Given the description of an element on the screen output the (x, y) to click on. 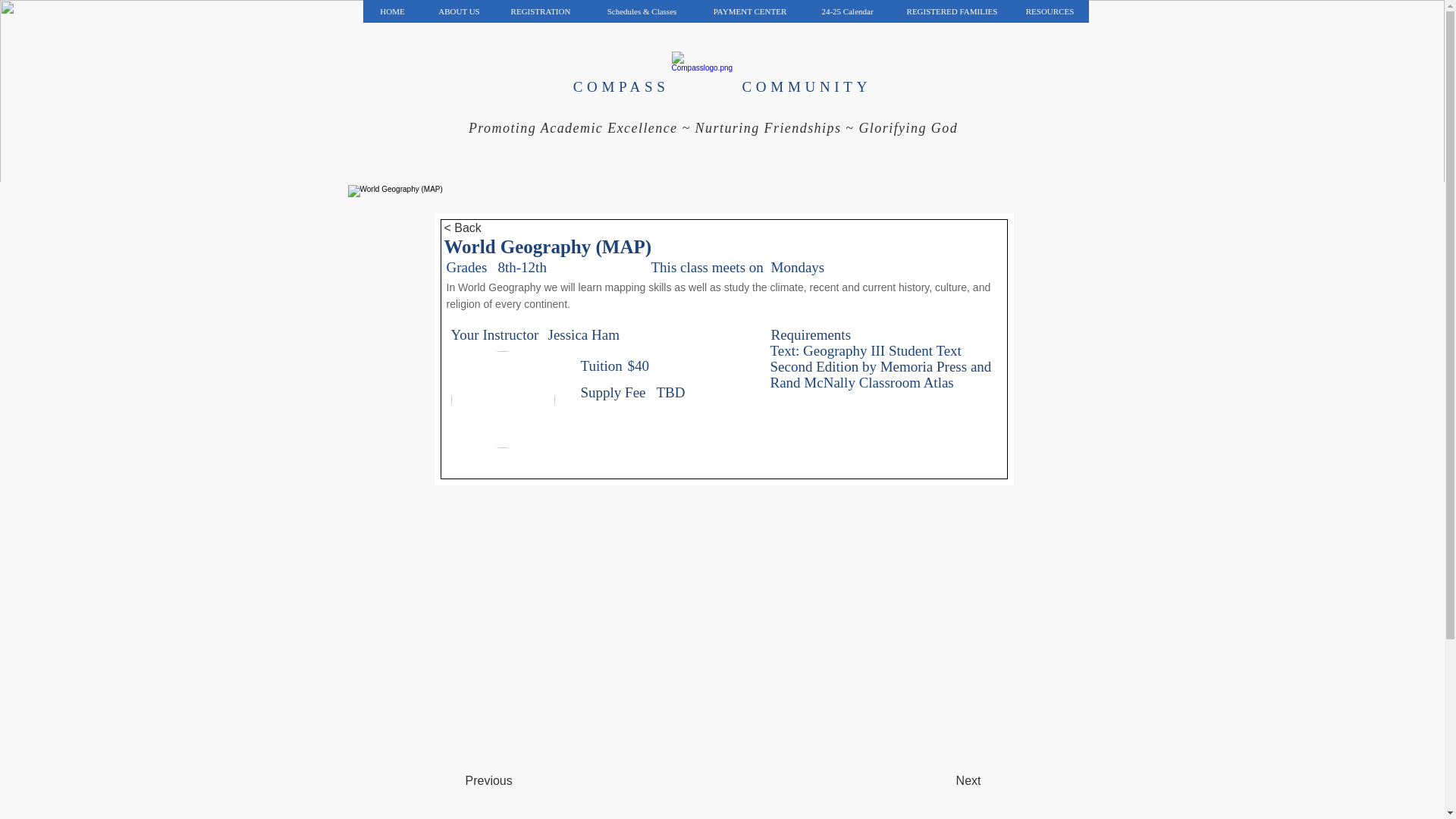
HOME (392, 11)
REGISTRATION (540, 11)
PAYMENT CENTER (748, 11)
24-25 Calendar (846, 11)
ABOUT US (458, 11)
Previous (515, 780)
Next (943, 780)
REGISTERED FAMILIES (951, 11)
RESOURCES (1048, 11)
